Given the description of an element on the screen output the (x, y) to click on. 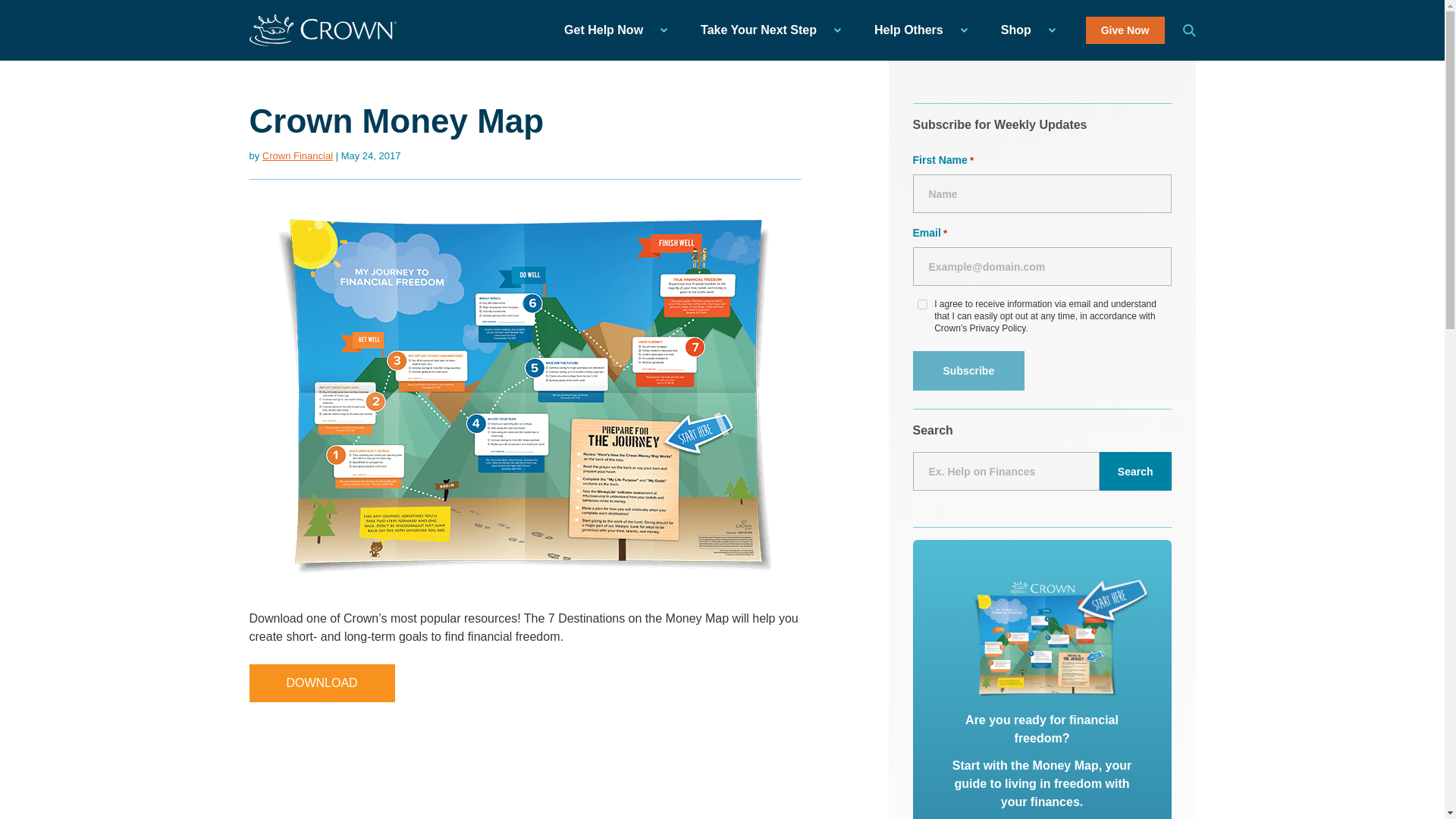
Subscribe (968, 370)
Take Your Next Step (766, 30)
Search (1188, 30)
Crown Logo 2021 H White 2023 (322, 29)
Get Help Now (611, 30)
Search (1135, 471)
Give Now (1125, 30)
Help Others (916, 30)
Shop (1023, 30)
Banner Blue Image (1062, 635)
